Given the description of an element on the screen output the (x, y) to click on. 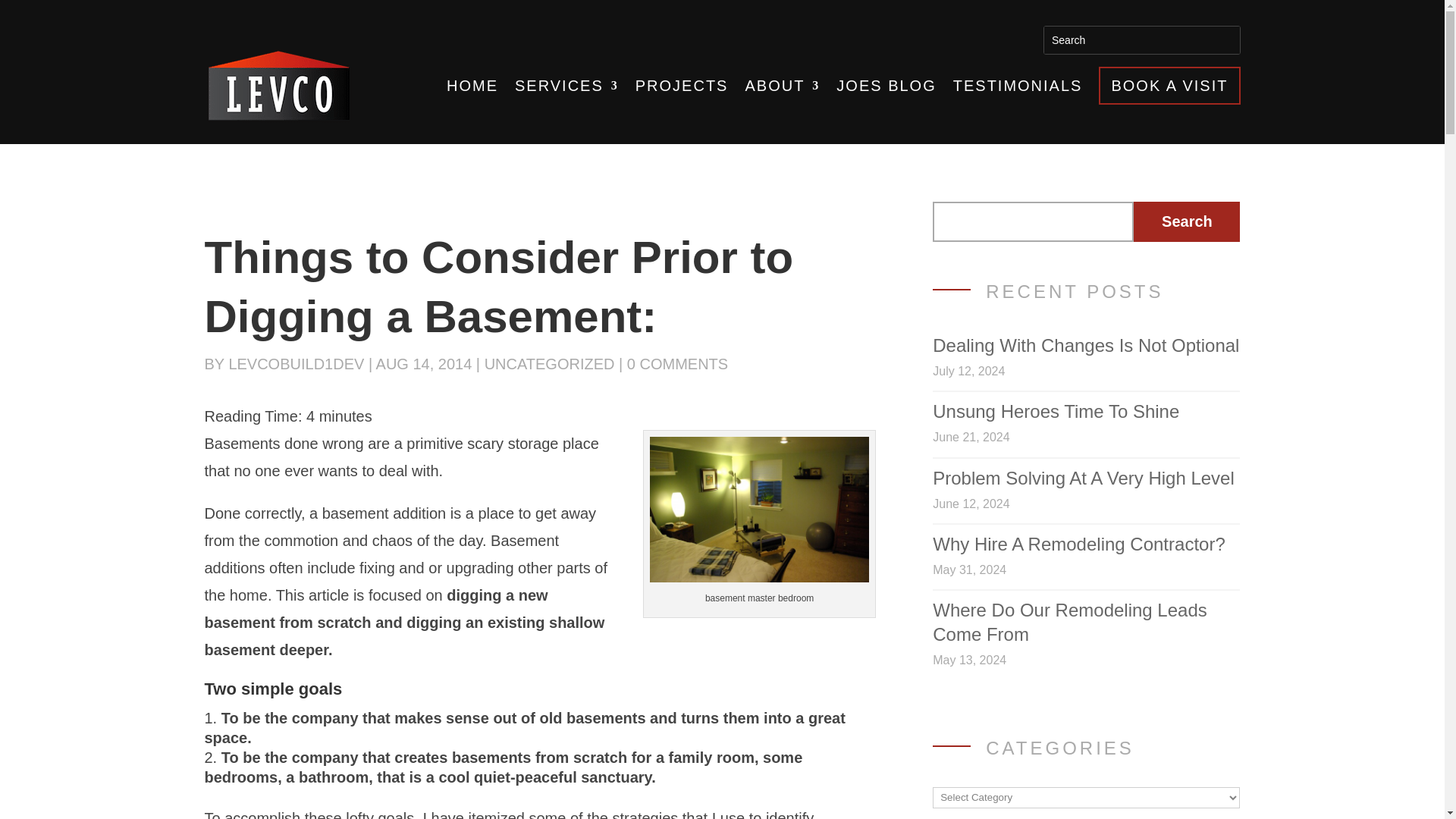
Posts by levcobuild1dev (296, 363)
Search (1187, 221)
TESTIMONIALS (1018, 85)
Search (1068, 40)
BOOK A VISIT (1169, 85)
SERVICES (566, 85)
HOME (471, 85)
PROJECTS (681, 85)
Search (1068, 40)
ABOUT (781, 85)
Search (1068, 40)
JOES BLOG (885, 85)
Search (1187, 221)
